Given the description of an element on the screen output the (x, y) to click on. 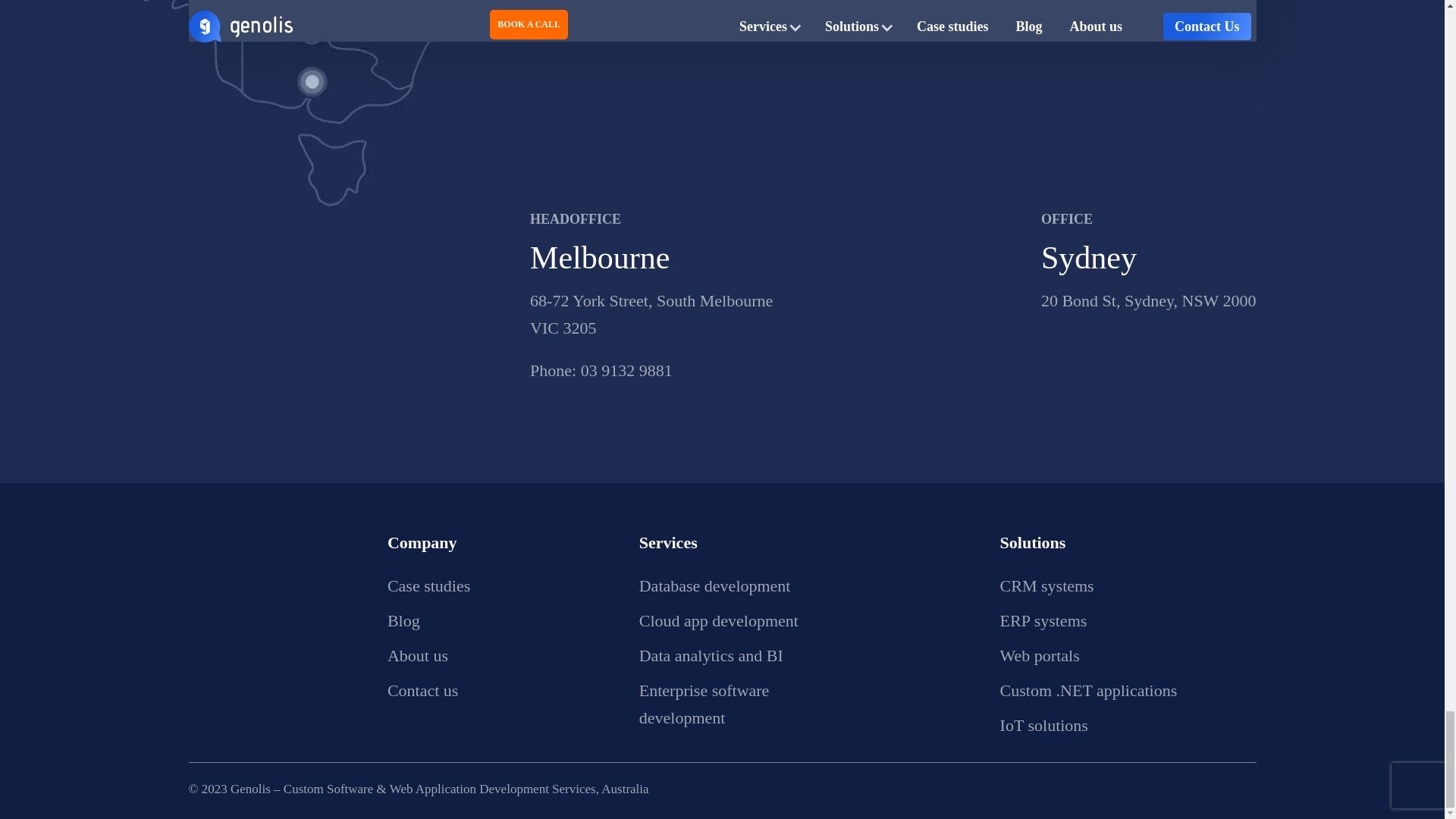
Contact us (422, 690)
Blog (403, 619)
Database development (714, 585)
ERP systems (1043, 619)
Cloud app development (718, 619)
Enterprise software development (704, 703)
About us (417, 655)
Web portals (1040, 655)
CRM systems (1047, 585)
Case studies (428, 585)
Data analytics and BI (711, 655)
